Given the description of an element on the screen output the (x, y) to click on. 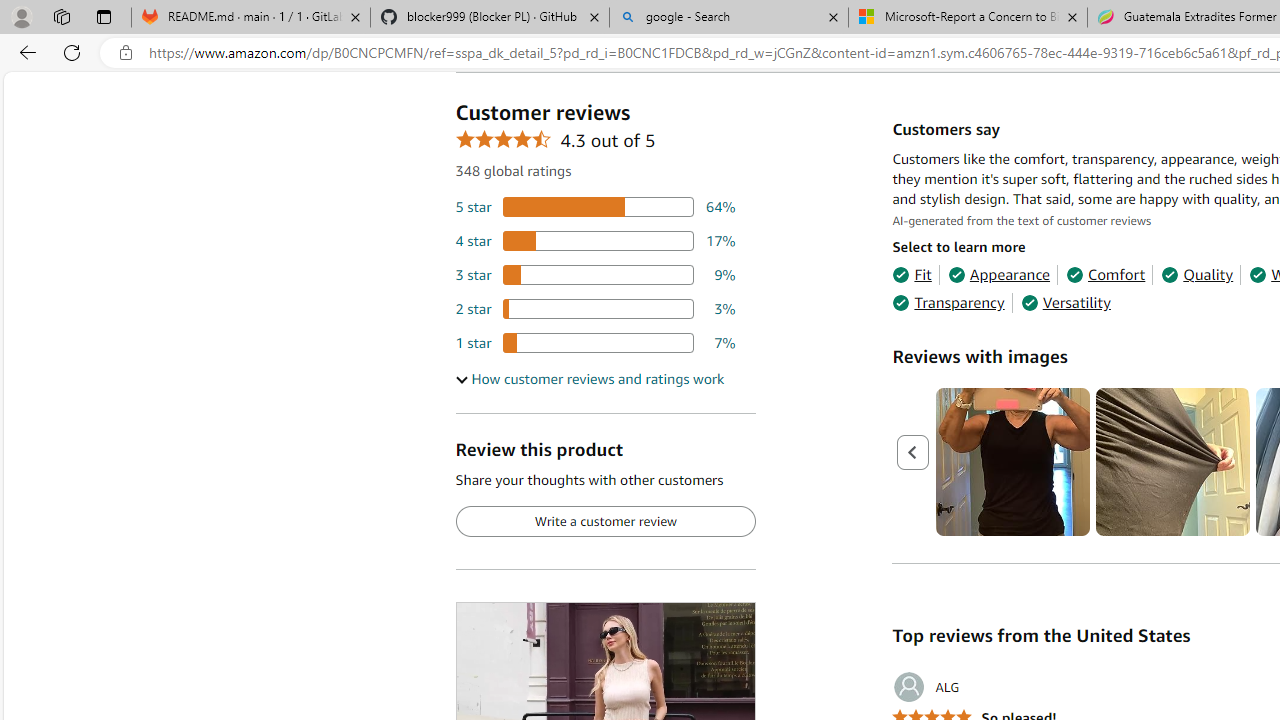
Quality (1196, 274)
Comfort (1105, 274)
How customer reviews and ratings work (589, 379)
3 percent of reviews have 2 stars (595, 308)
64 percent of reviews have 5 stars (595, 207)
Versatility (1065, 303)
Customer Image (1172, 462)
9 percent of reviews have 3 stars (595, 274)
Customer Image (1172, 462)
